Given the description of an element on the screen output the (x, y) to click on. 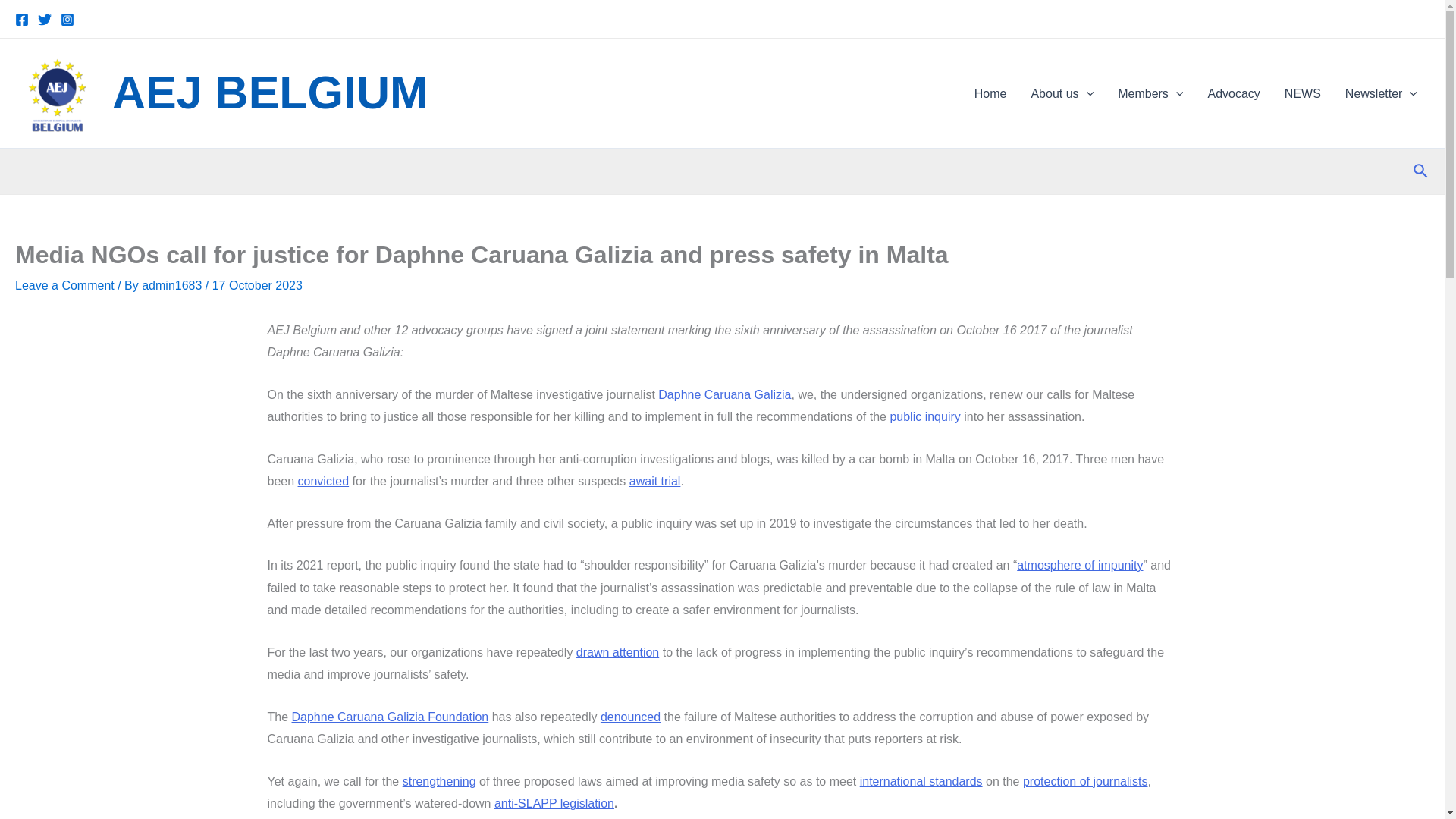
Advocacy (1233, 92)
Newsletter (1381, 92)
Leave a Comment (64, 285)
About us (1061, 92)
admin1683 (173, 285)
Members (1150, 92)
NEWS (1302, 92)
View all posts by admin1683 (173, 285)
public inquiry (924, 416)
Home (990, 92)
AEJ BELGIUM (270, 91)
Daphne Caruana Galizia (724, 394)
